Given the description of an element on the screen output the (x, y) to click on. 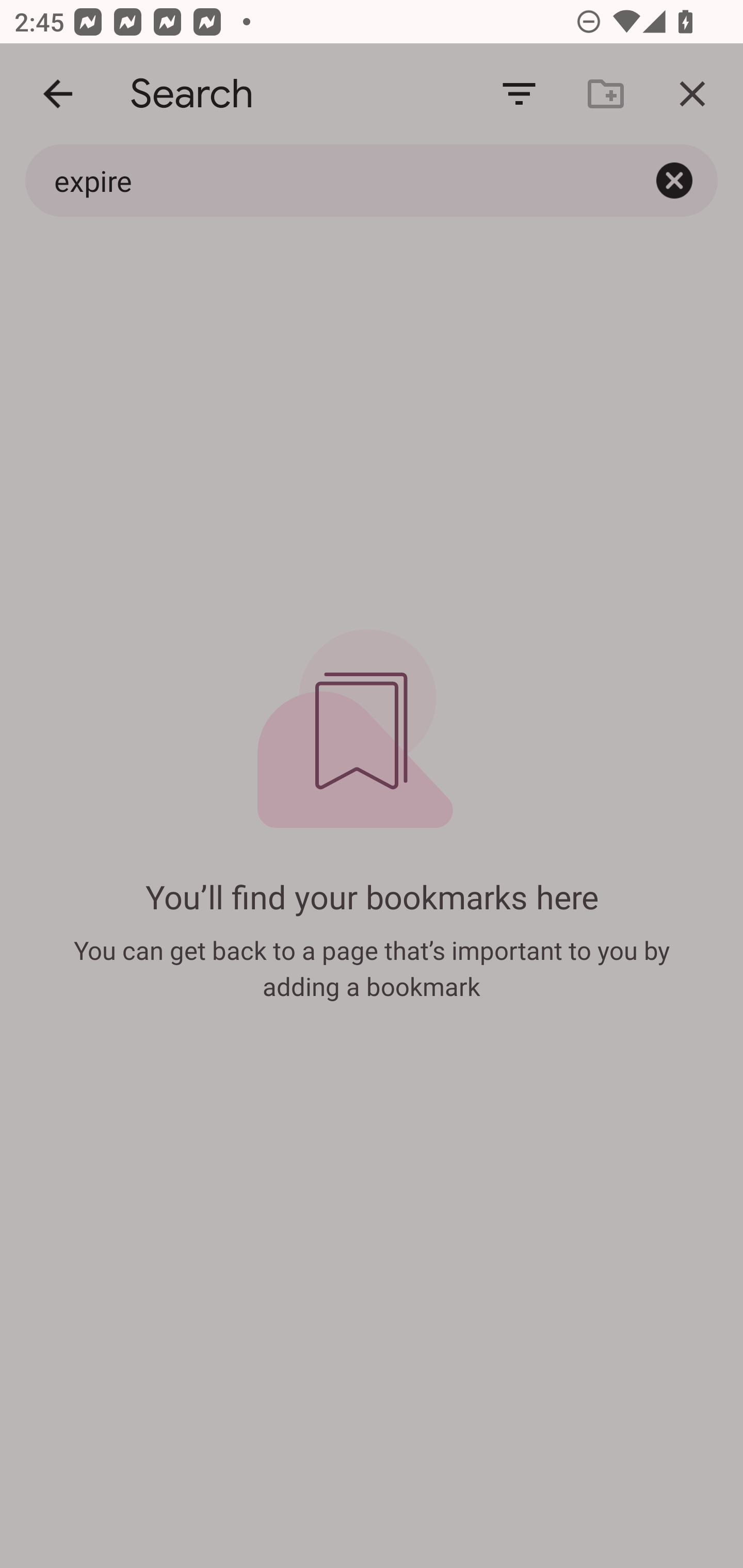
Go back (57, 93)
Sort and view options (518, 93)
Create new folder (605, 93)
Close dialog (692, 93)
expire (327, 180)
Clear input (673, 180)
